Given the description of an element on the screen output the (x, y) to click on. 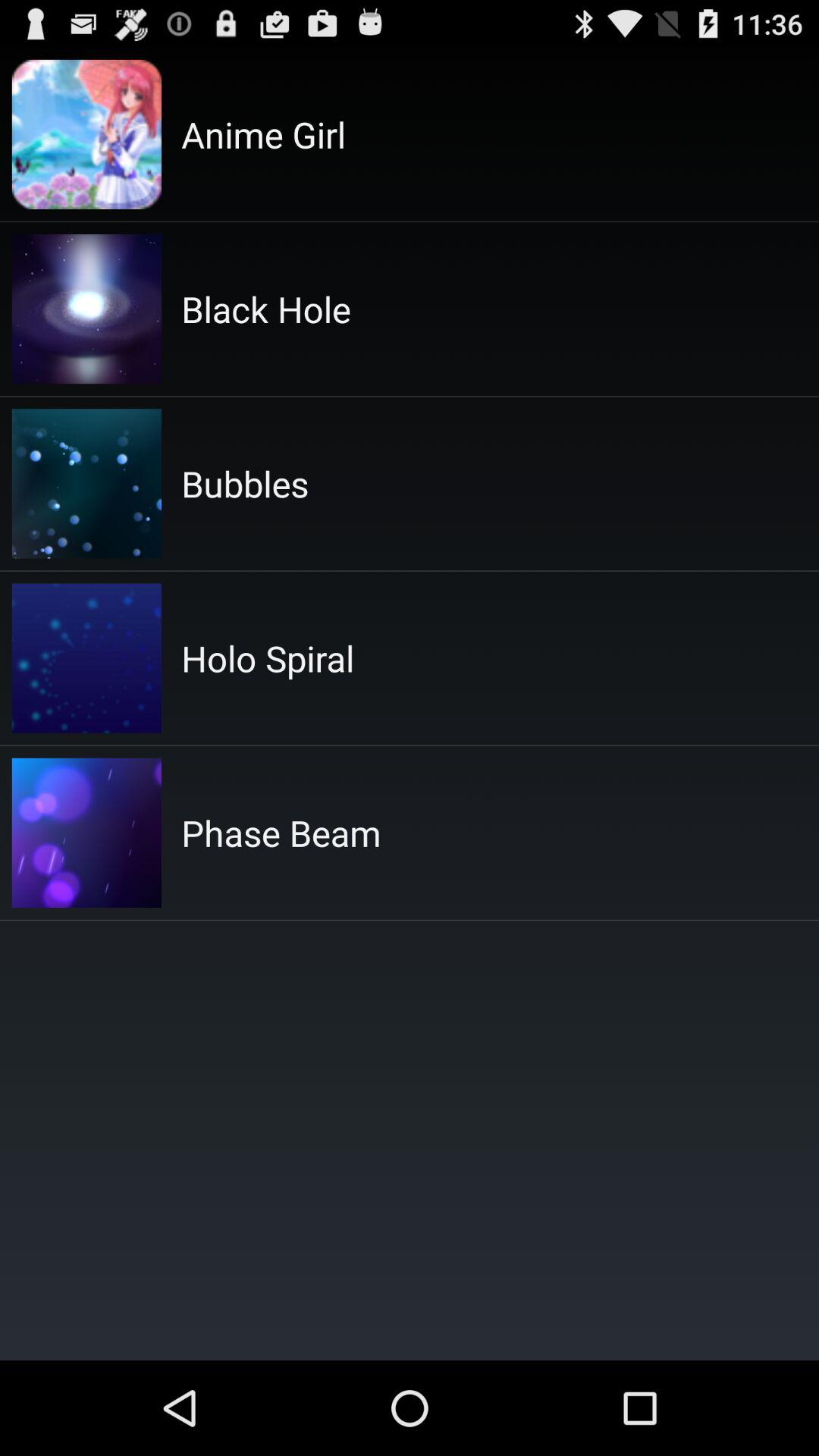
scroll to the black hole item (265, 308)
